Given the description of an element on the screen output the (x, y) to click on. 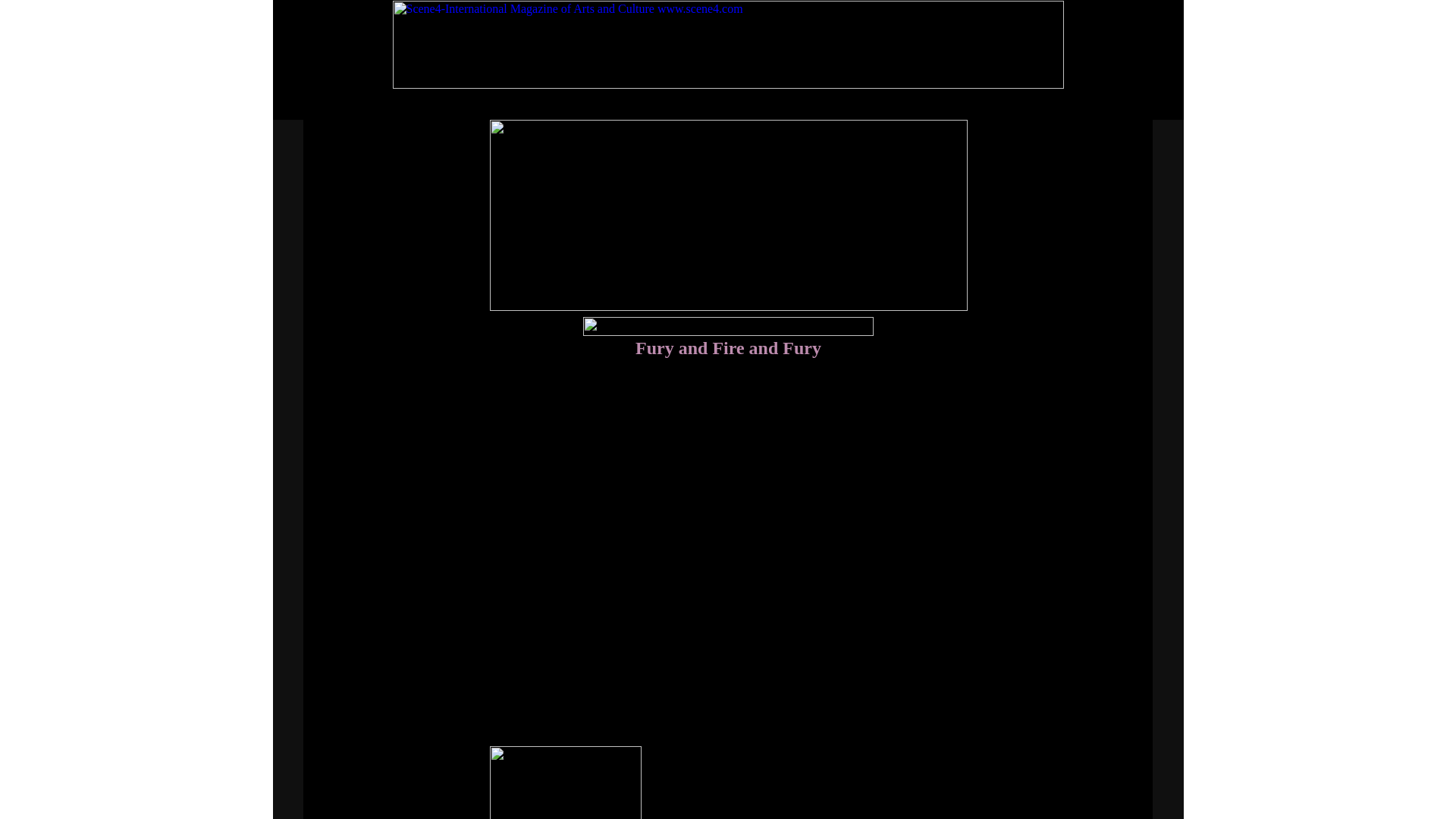
Karren LaLonde Alenier (727, 325)
Fire-Fury-cover-cr (565, 782)
